Given the description of an element on the screen output the (x, y) to click on. 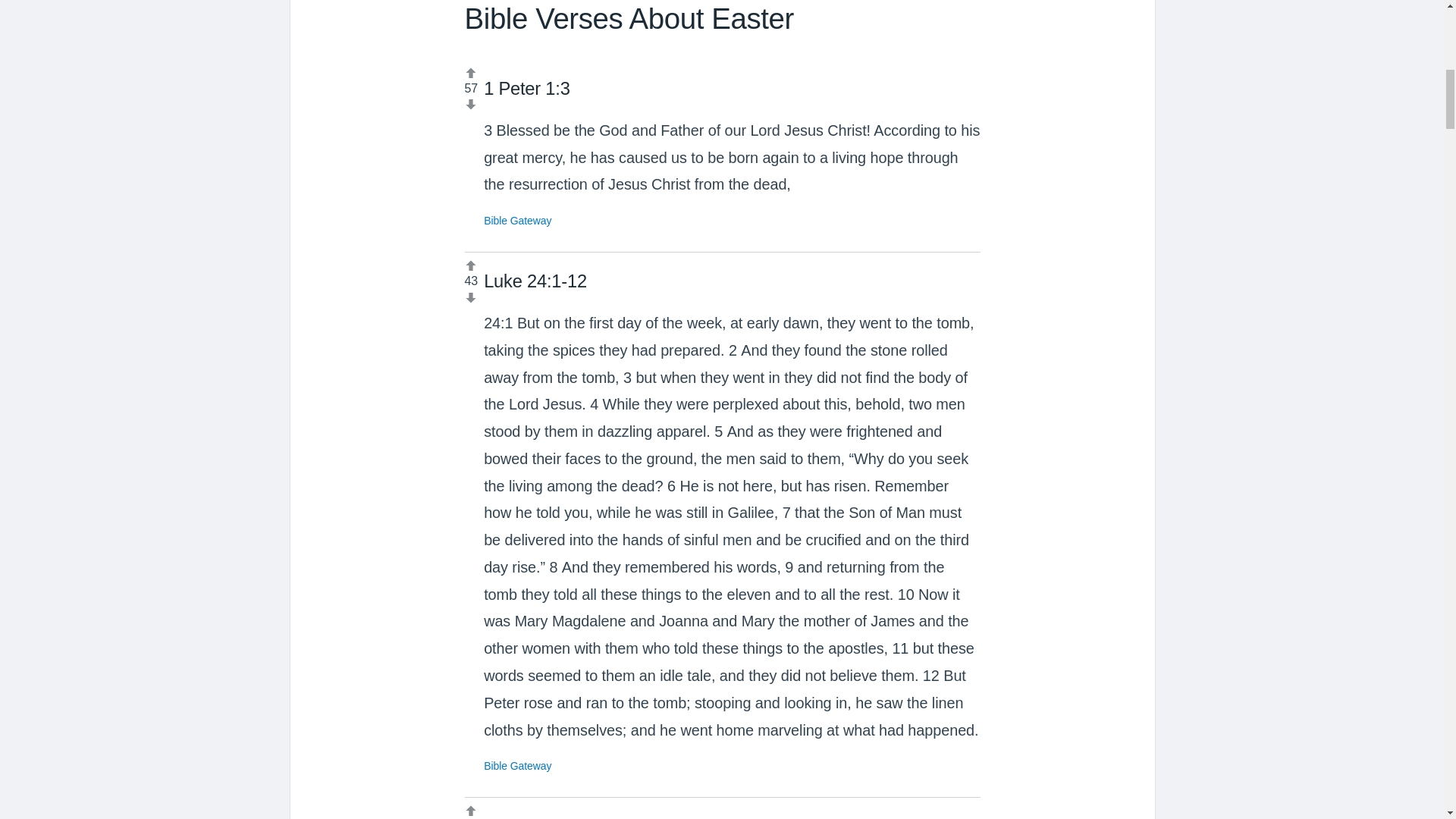
Bible Gateway (517, 220)
Bible Gateway (517, 766)
